Given the description of an element on the screen output the (x, y) to click on. 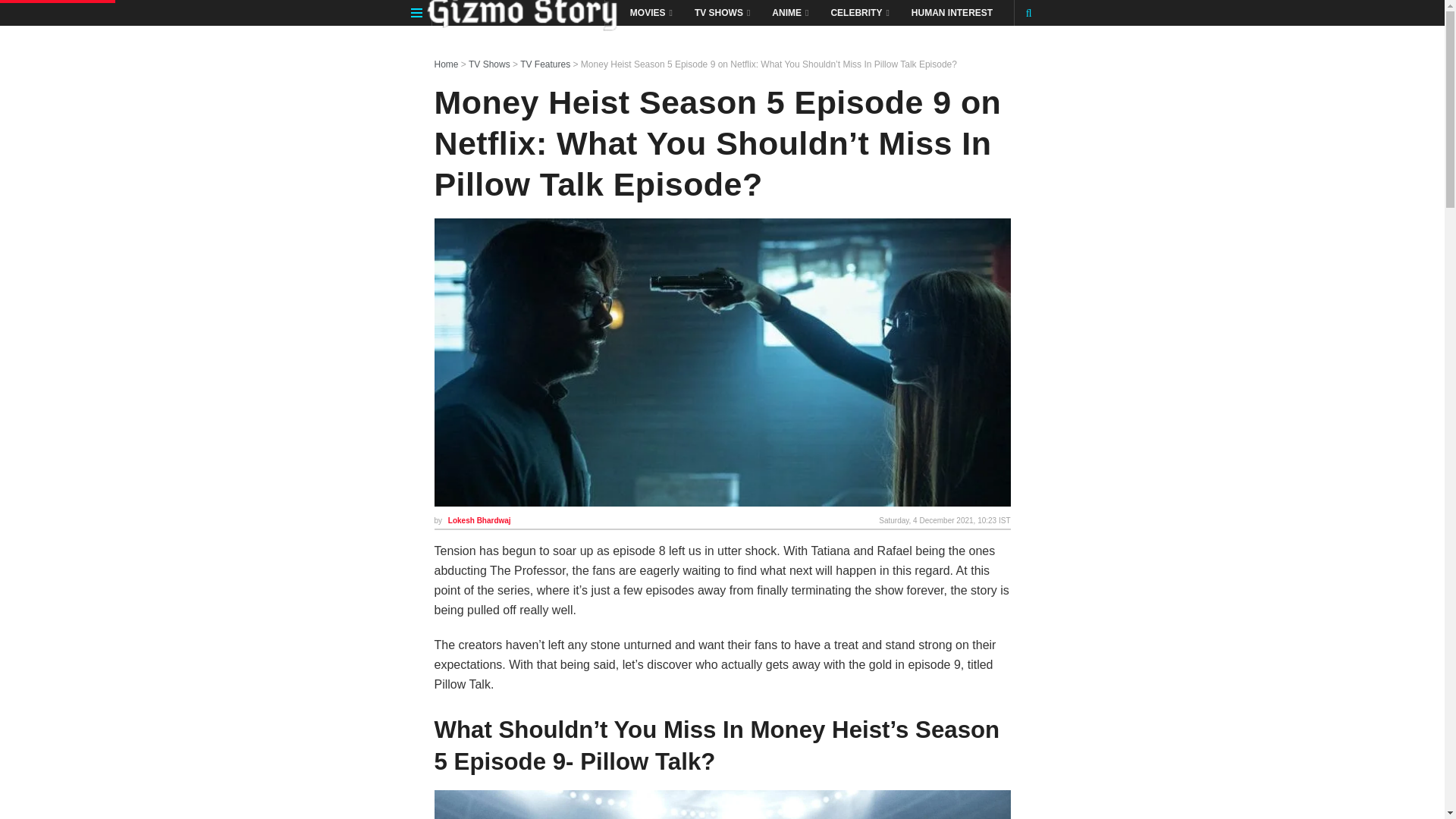
CELEBRITY (858, 12)
Go to the TV Features Category archives. (544, 63)
HUMAN INTEREST (951, 12)
TV SHOWS (721, 12)
MOVIES (649, 12)
ANIME (789, 12)
Go to the TV Shows Category archives. (489, 63)
Go to Gizmo Story. (445, 63)
